Given the description of an element on the screen output the (x, y) to click on. 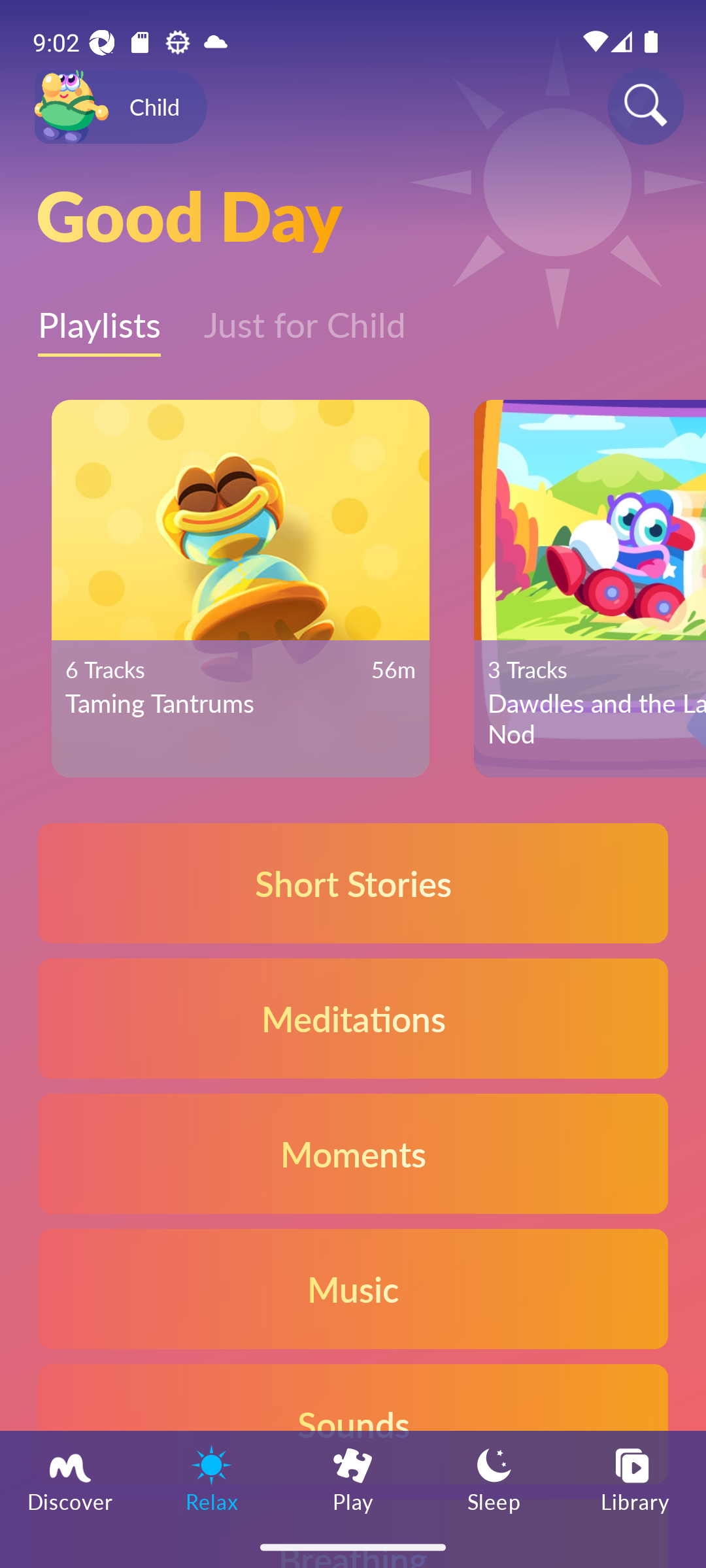
Profile icon Child (120, 107)
Just for Child (304, 315)
Featured Content 6 Tracks Taming Tantrums 56m (240, 588)
Short Stories (352, 883)
Meditations (352, 1017)
Moments (352, 1152)
Music (352, 1288)
Discover (70, 1478)
Play (352, 1478)
Sleep (493, 1478)
Library (635, 1478)
